Given the description of an element on the screen output the (x, y) to click on. 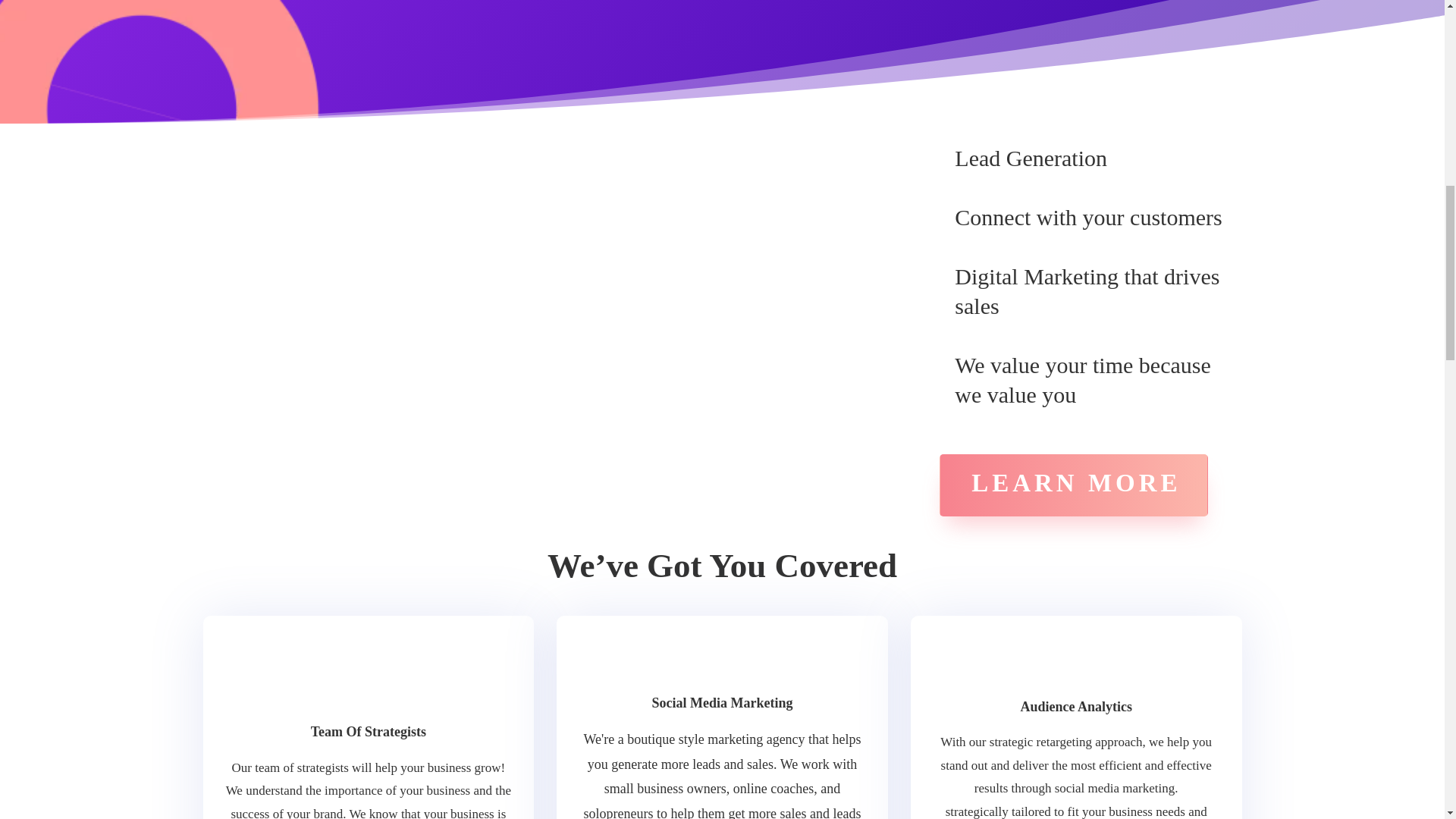
LEARN MORE (1073, 485)
